Given the description of an element on the screen output the (x, y) to click on. 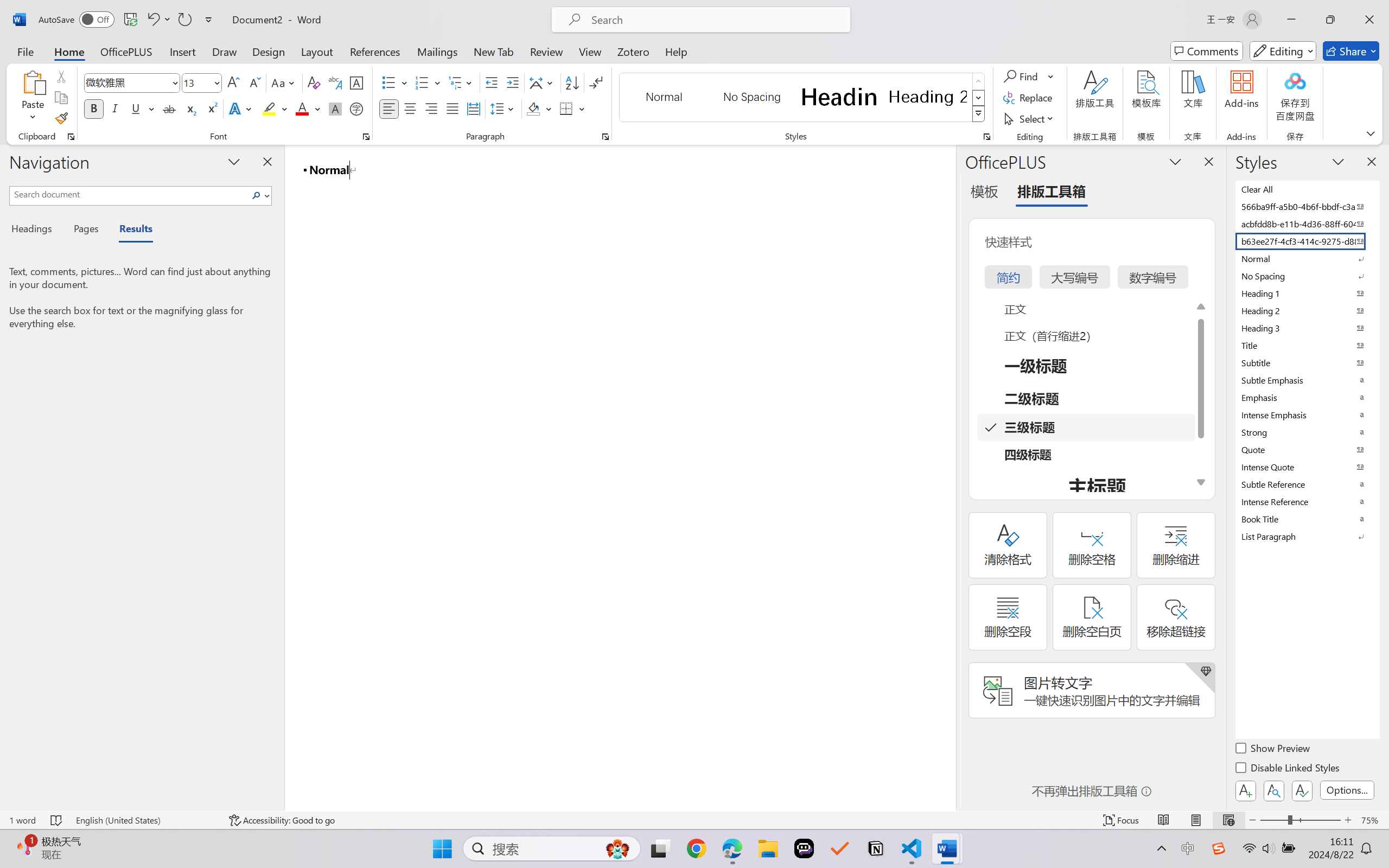
Task Pane Options (1175, 161)
New Tab (493, 51)
Options... (1346, 789)
Share (1350, 51)
Grow Font (233, 82)
Focus  (1121, 819)
List Paragraph (1306, 536)
Center (409, 108)
Accessibility Checker Accessibility: Good to go (282, 819)
